Given the description of an element on the screen output the (x, y) to click on. 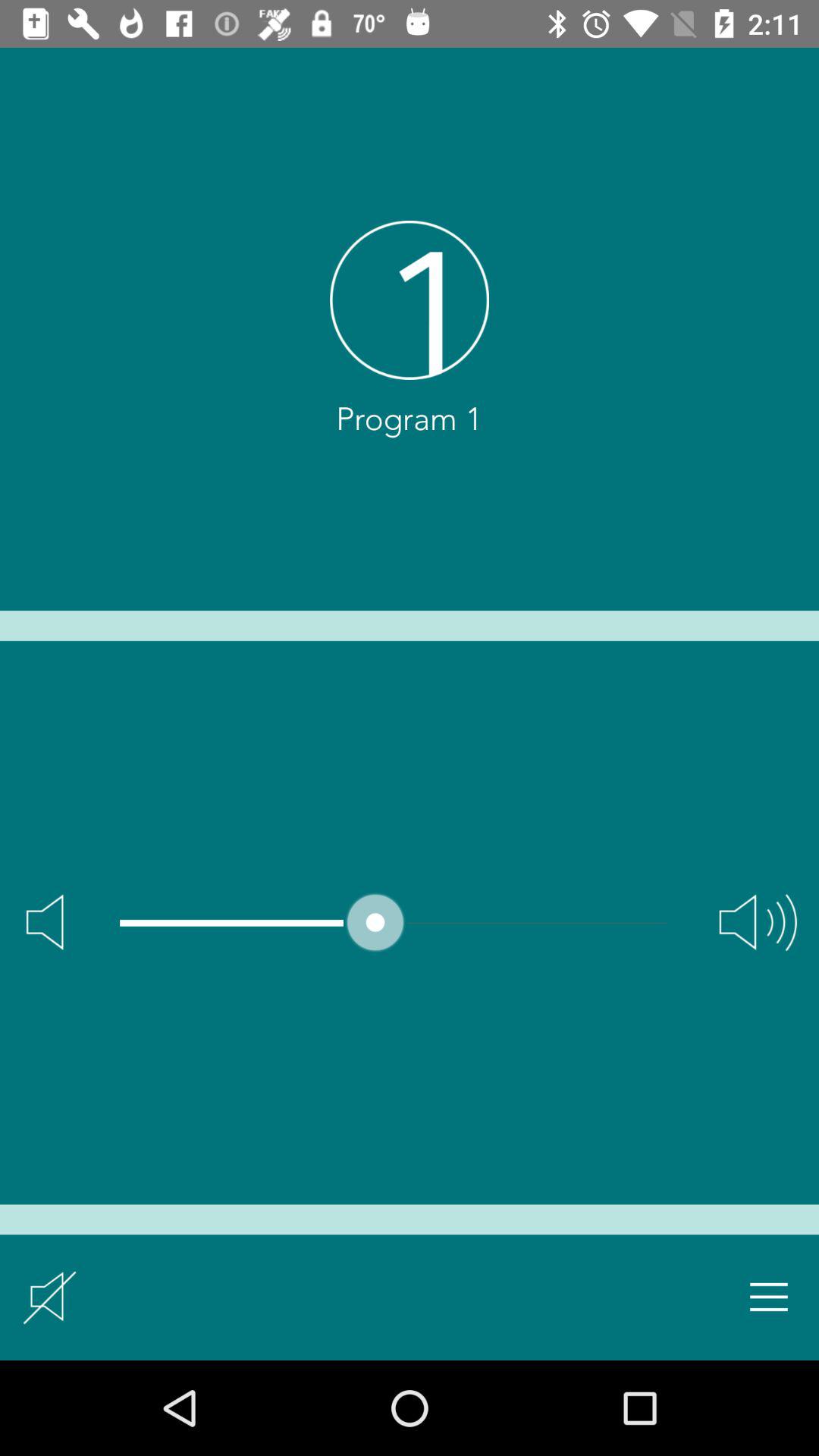
mute option (49, 1297)
